Given the description of an element on the screen output the (x, y) to click on. 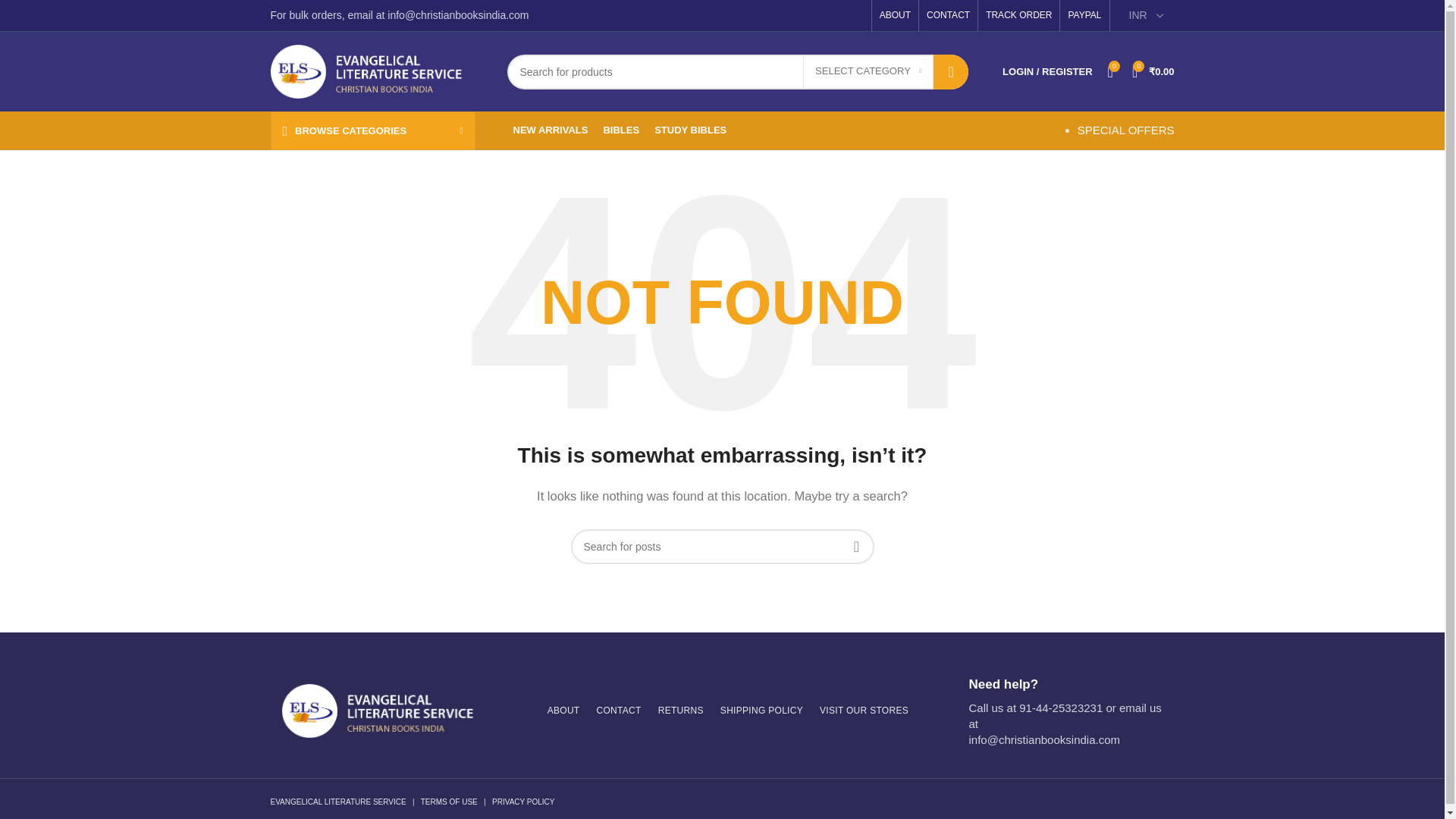
TRACK ORDER (1018, 15)
CONTACT (947, 15)
Search for products (737, 71)
PAYPAL (1083, 15)
Shopping cart (1153, 71)
Search for posts (721, 546)
Currency (1146, 15)
My account (1046, 71)
ABOUT (895, 15)
SELECT CATEGORY (868, 71)
SELECT CATEGORY (868, 71)
